Given the description of an element on the screen output the (x, y) to click on. 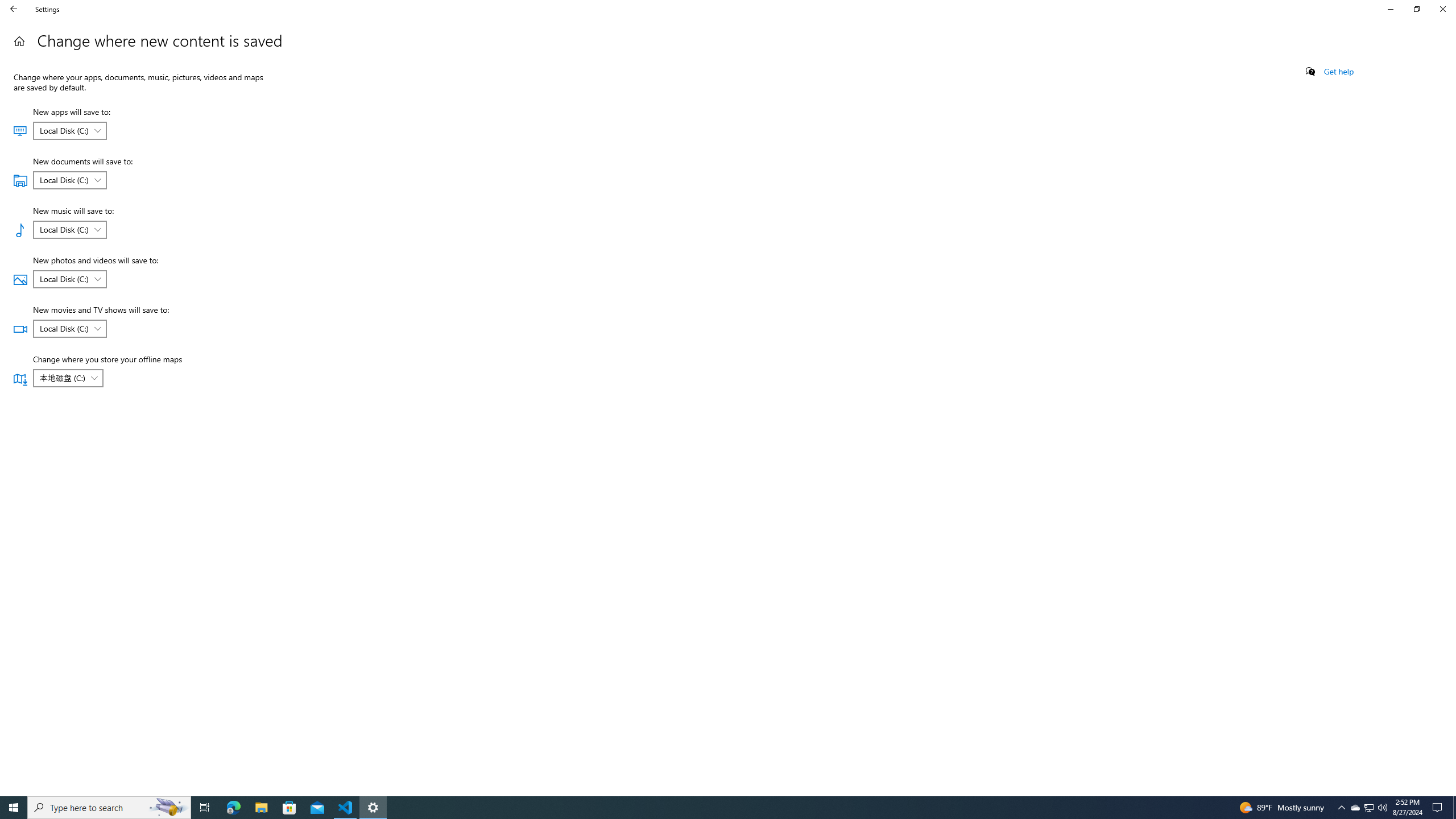
Search highlights icon opens search home window (167, 807)
Microsoft Store (289, 807)
Task View (204, 807)
